Given the description of an element on the screen output the (x, y) to click on. 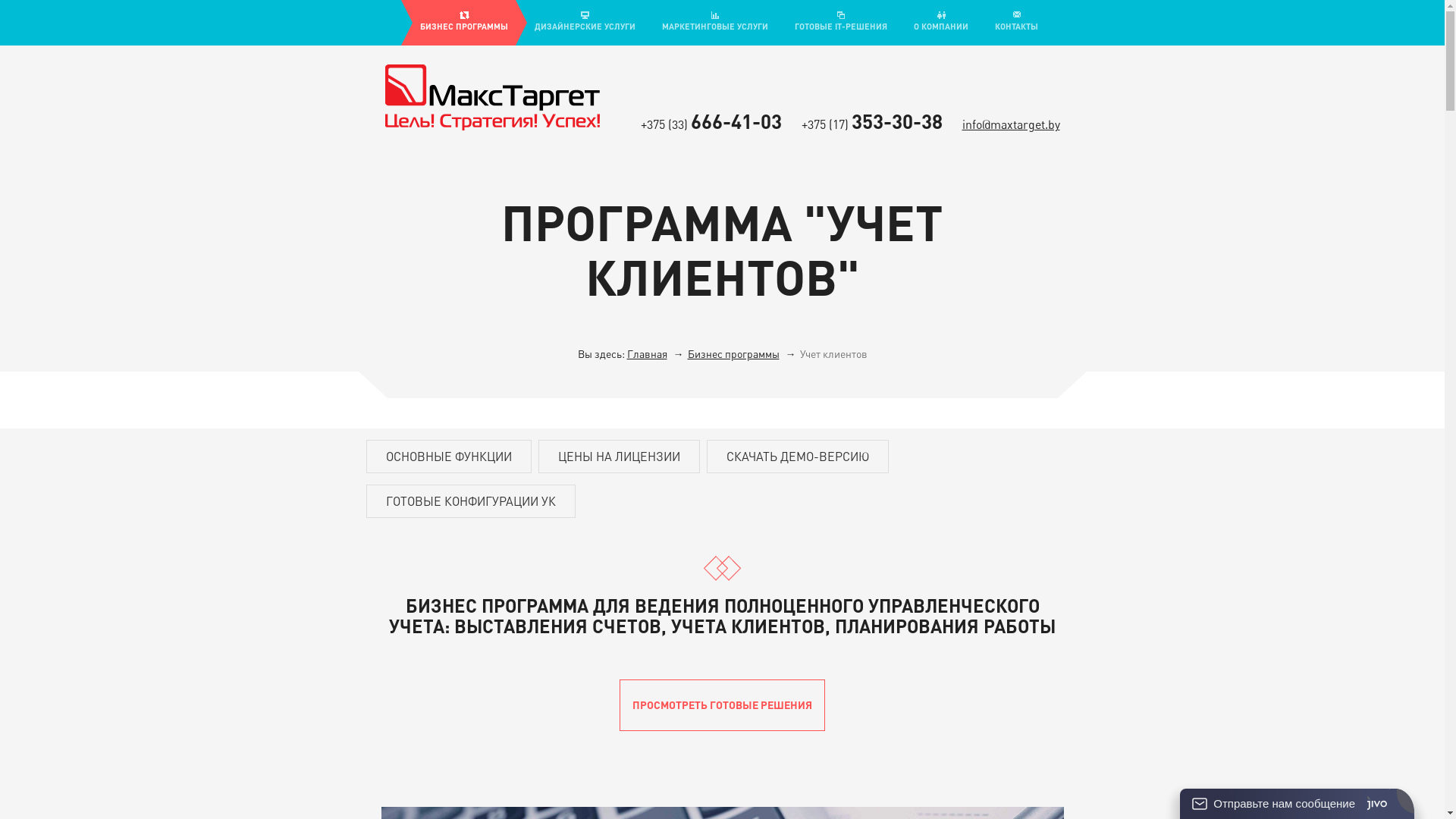
info@maxtarget.by Element type: text (1010, 123)
